Given the description of an element on the screen output the (x, y) to click on. 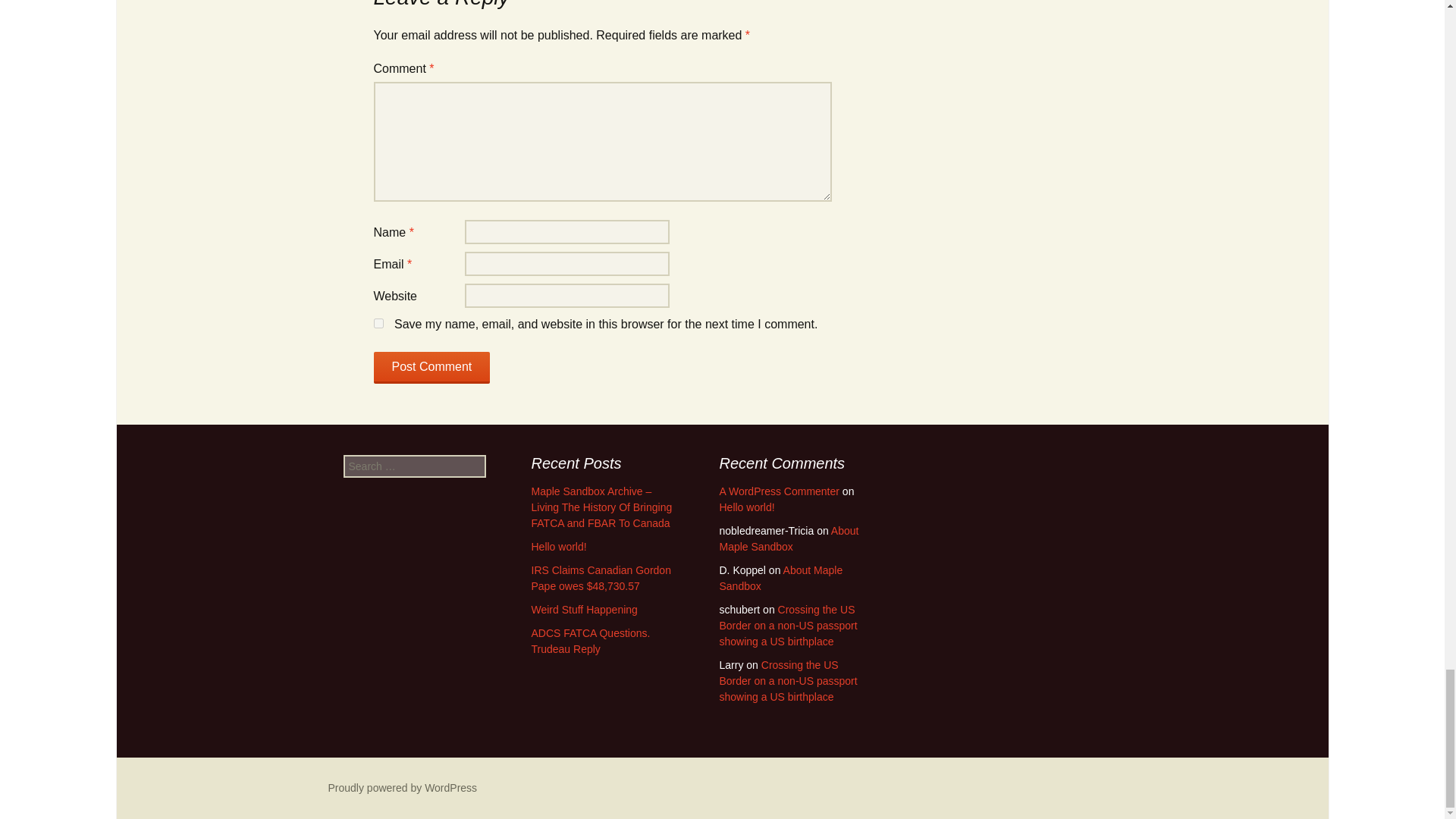
Post Comment (430, 368)
yes (377, 323)
